Given the description of an element on the screen output the (x, y) to click on. 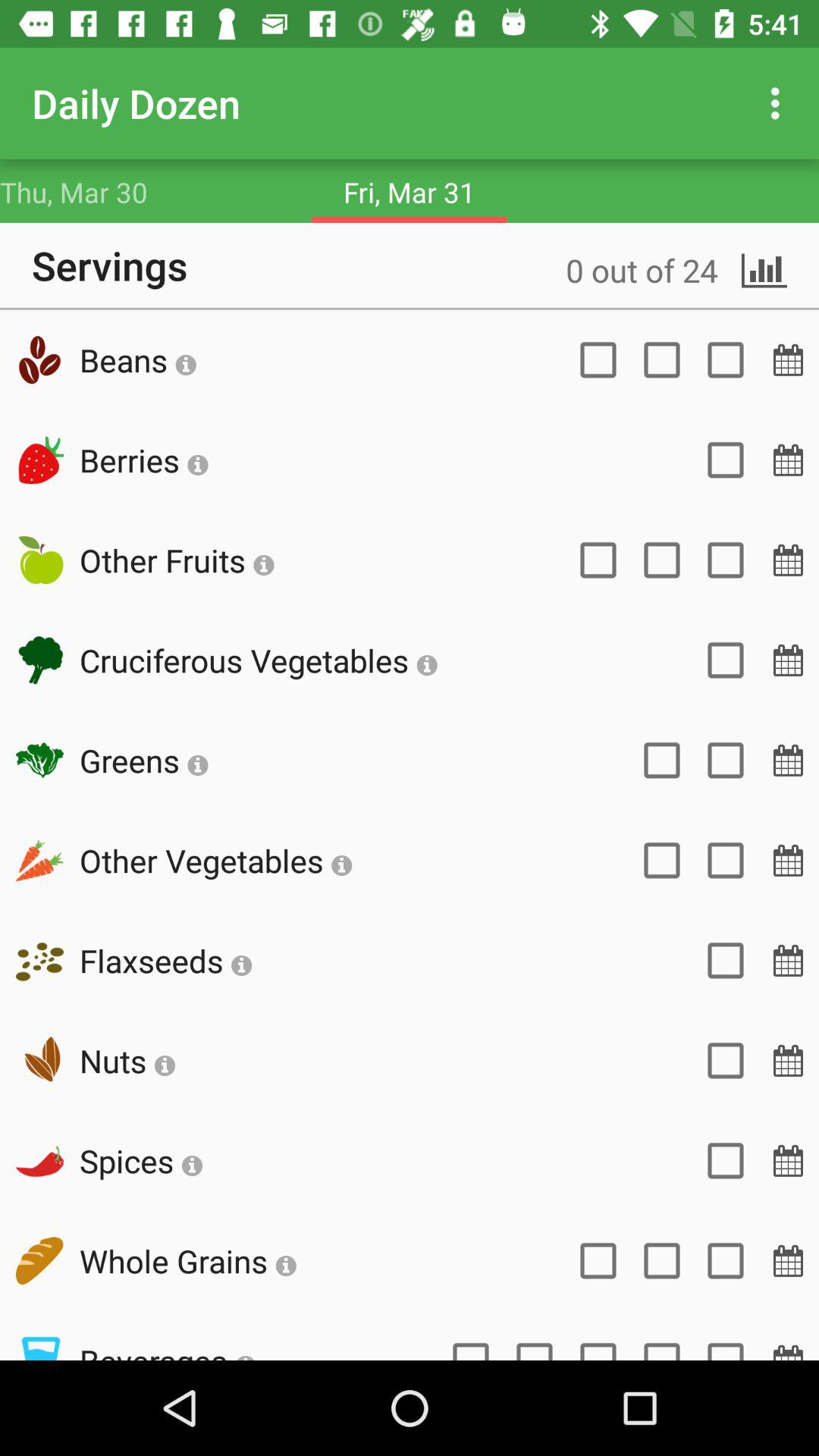
select the item next to the 0 out of icon (137, 359)
